Given the description of an element on the screen output the (x, y) to click on. 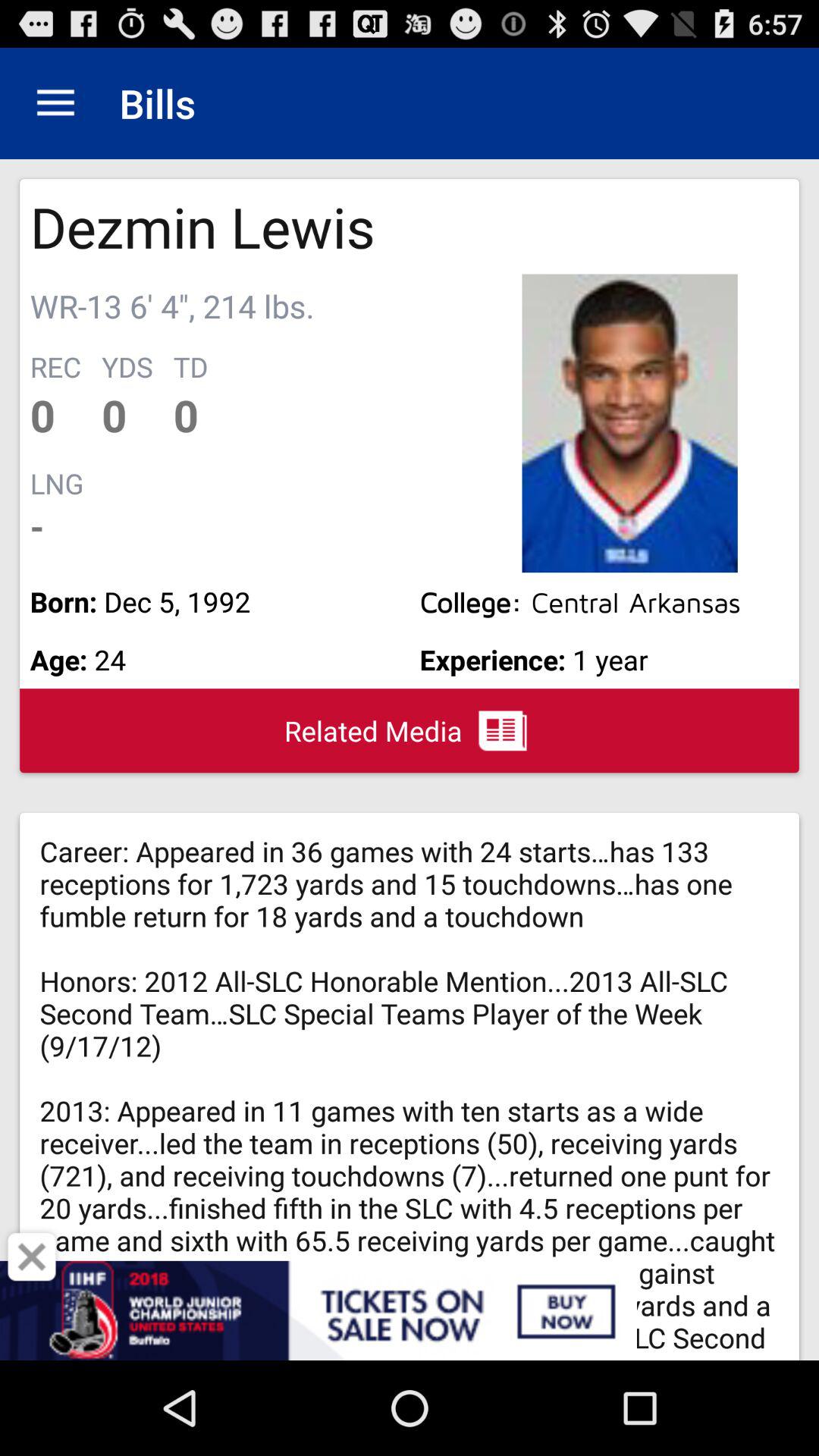
buy tickets (409, 1310)
